Given the description of an element on the screen output the (x, y) to click on. 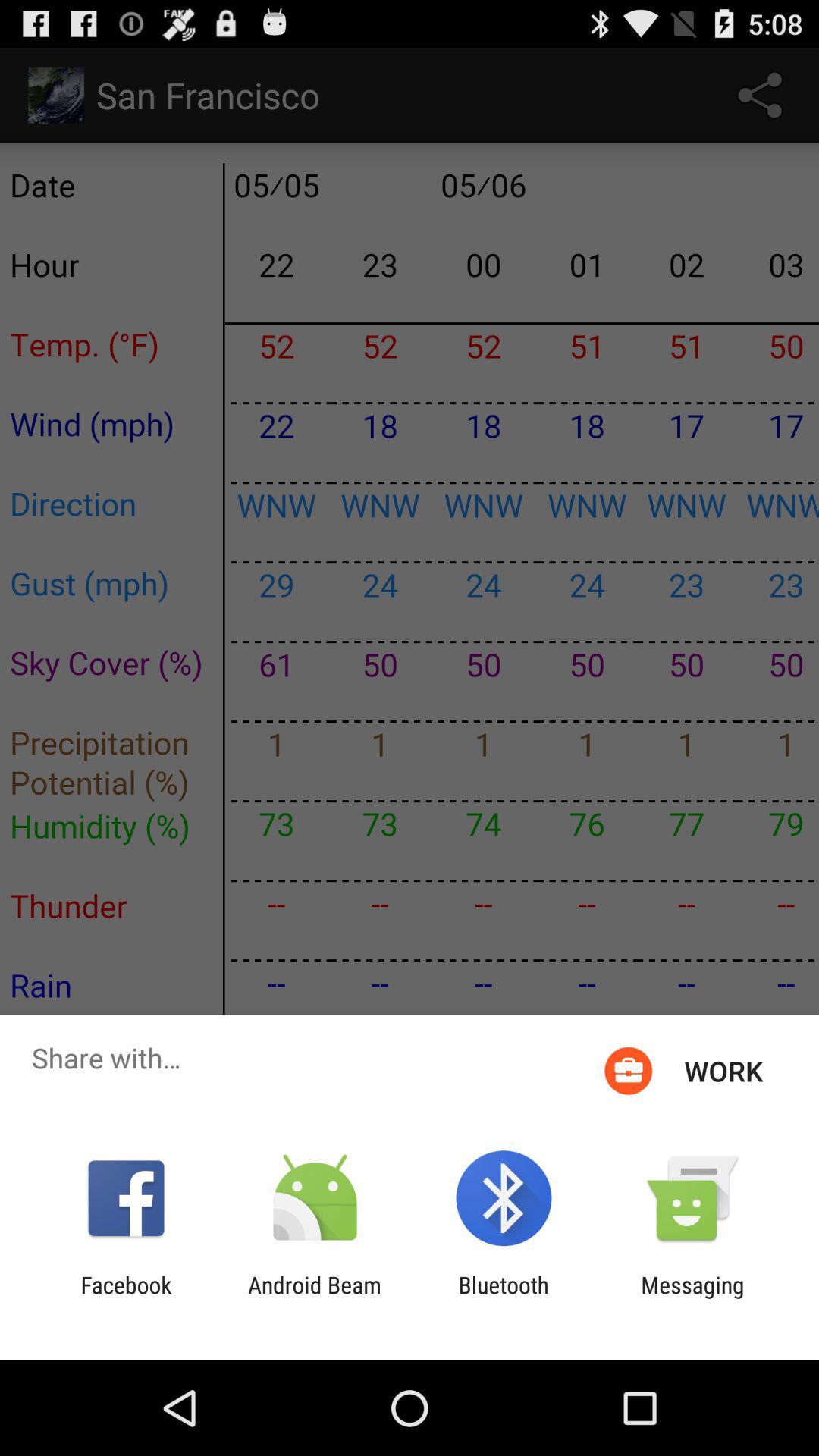
choose app next to android beam app (125, 1298)
